Given the description of an element on the screen output the (x, y) to click on. 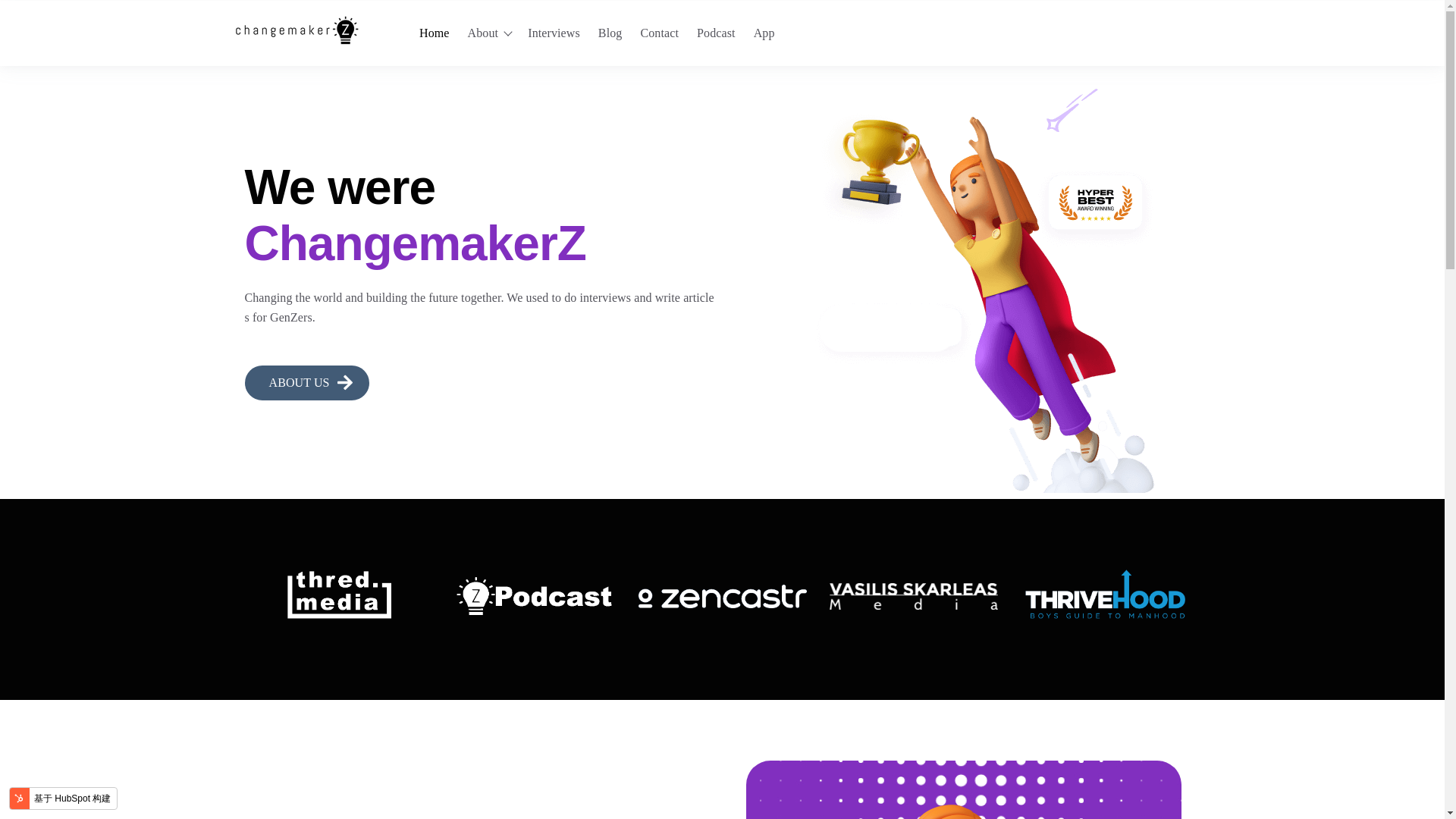
Contact (659, 31)
Interviews (553, 31)
Podcast (716, 31)
ABOUT US (306, 382)
Home (434, 31)
Blog (610, 31)
About (483, 31)
App (764, 31)
